Given the description of an element on the screen output the (x, y) to click on. 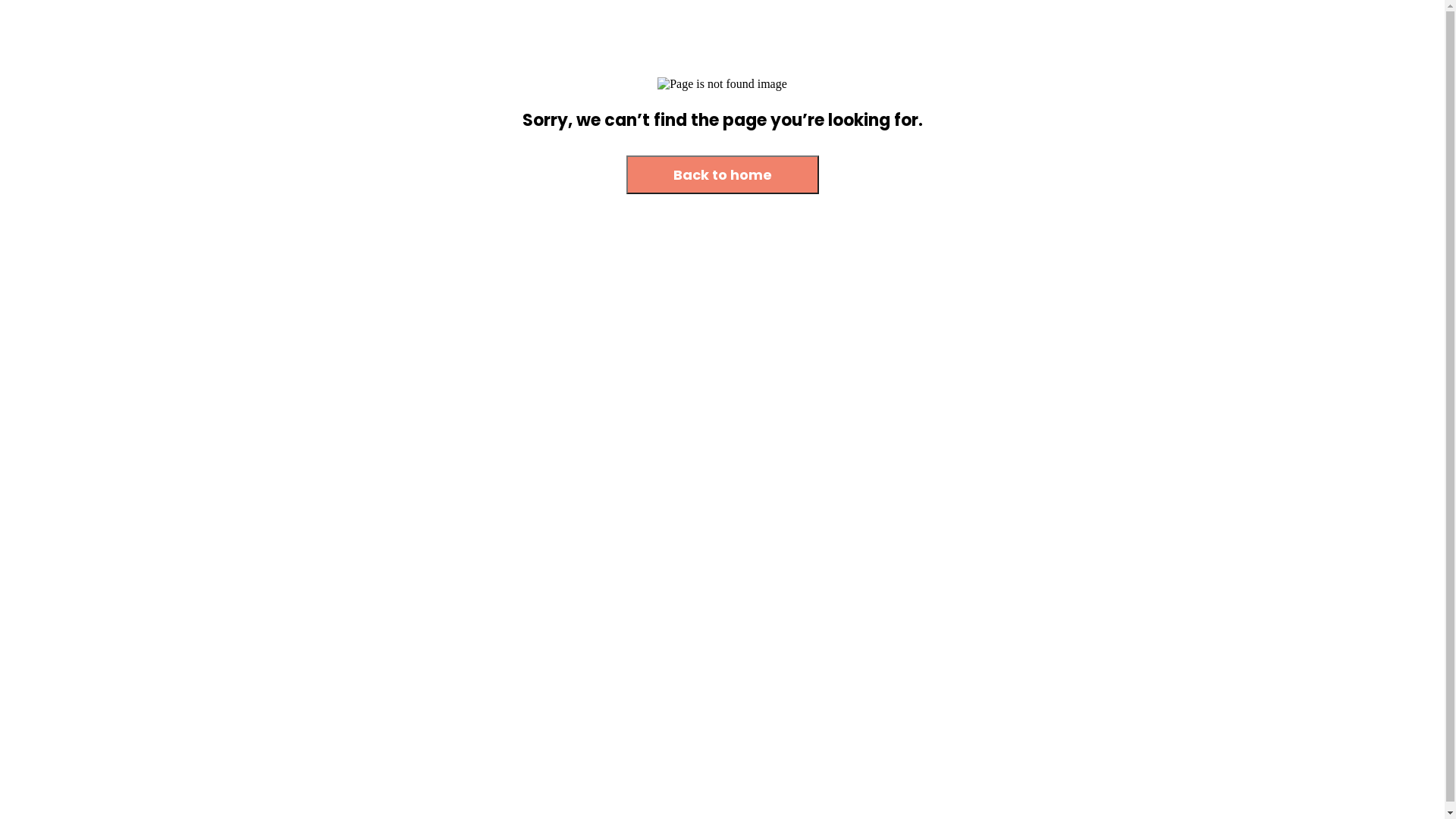
Back to home Element type: text (722, 175)
Back to home Element type: text (722, 174)
